Given the description of an element on the screen output the (x, y) to click on. 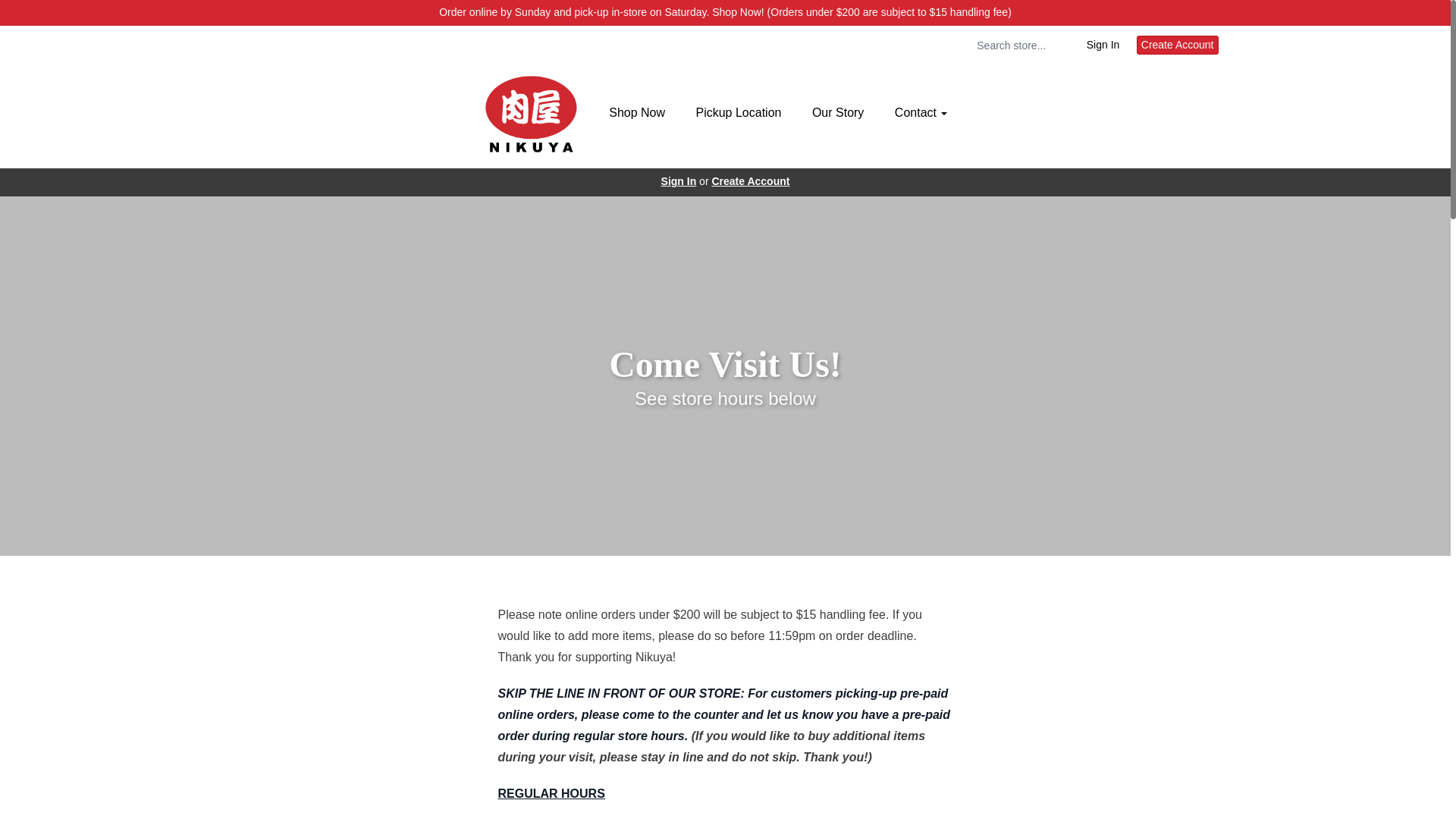
Shop Now (636, 113)
Create Account (750, 181)
Our Story (837, 113)
Sign In (1102, 45)
Contact (920, 113)
Sign In (679, 181)
Create Account (1177, 45)
Pickup Location (737, 113)
